Given the description of an element on the screen output the (x, y) to click on. 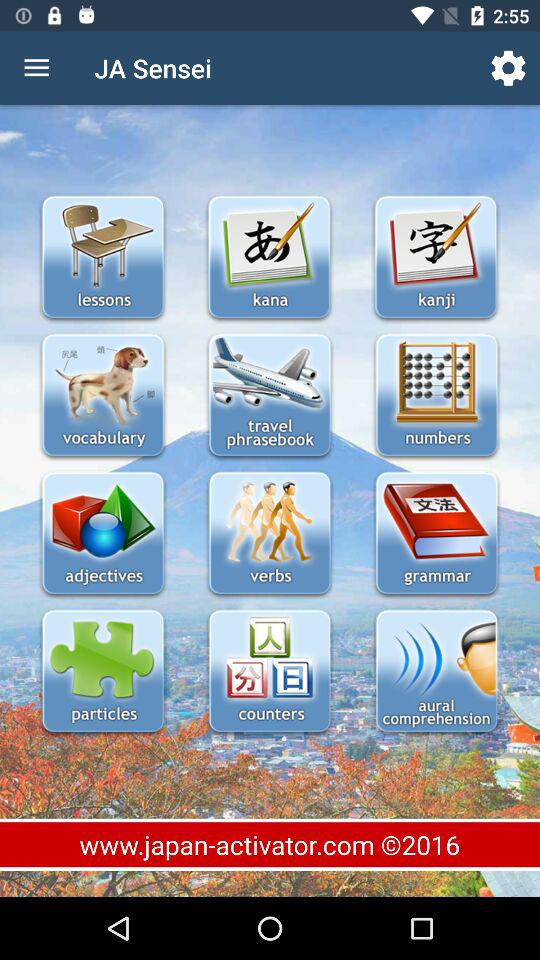
open adjectives (102, 534)
